Given the description of an element on the screen output the (x, y) to click on. 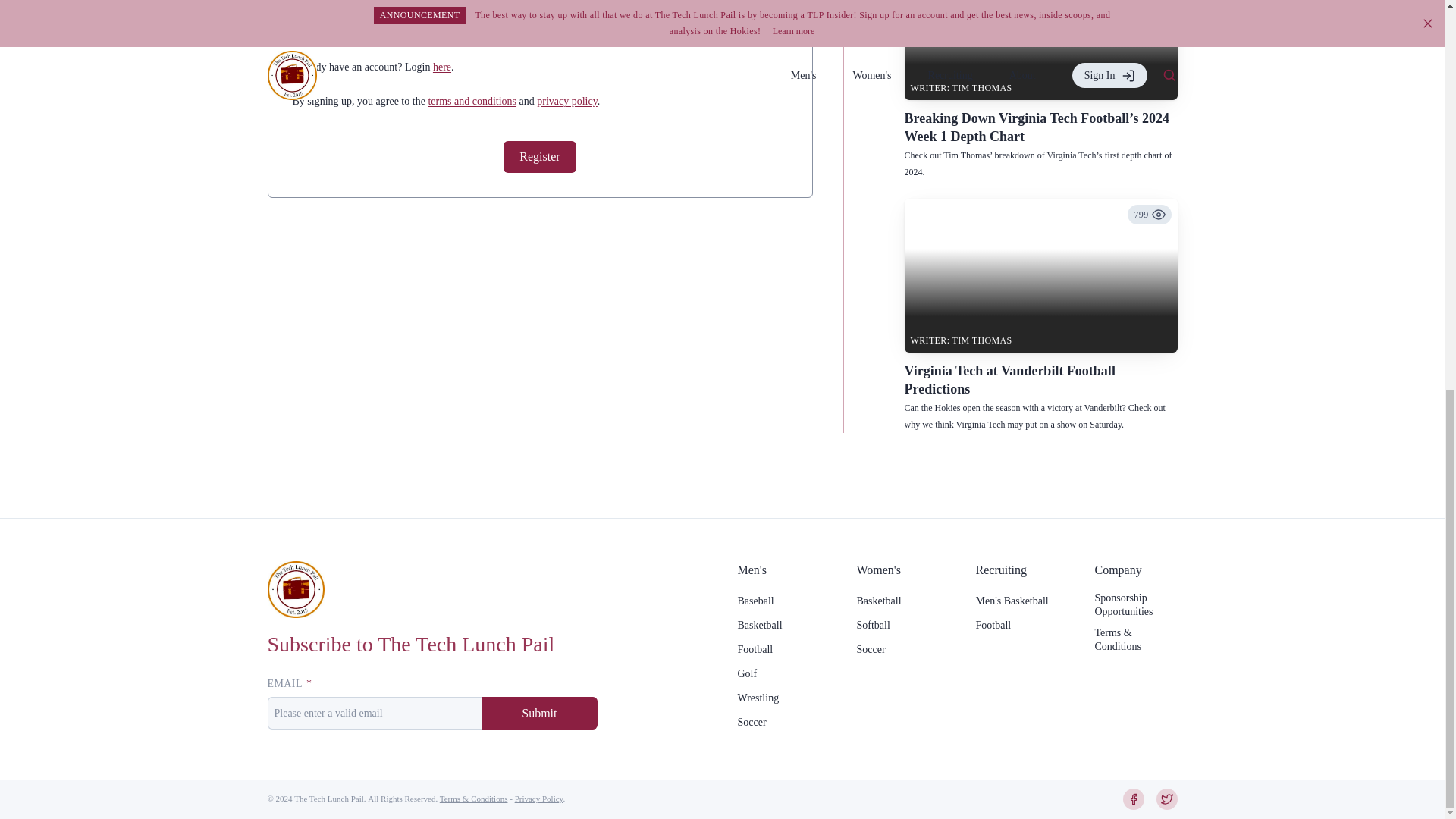
Football (754, 649)
Return to homepage (294, 589)
Register (539, 156)
privacy policy (566, 101)
Golf (746, 673)
Wrestling (757, 698)
terms and conditions (472, 101)
here (441, 66)
Submit (538, 712)
Baseball (754, 601)
